Given the description of an element on the screen output the (x, y) to click on. 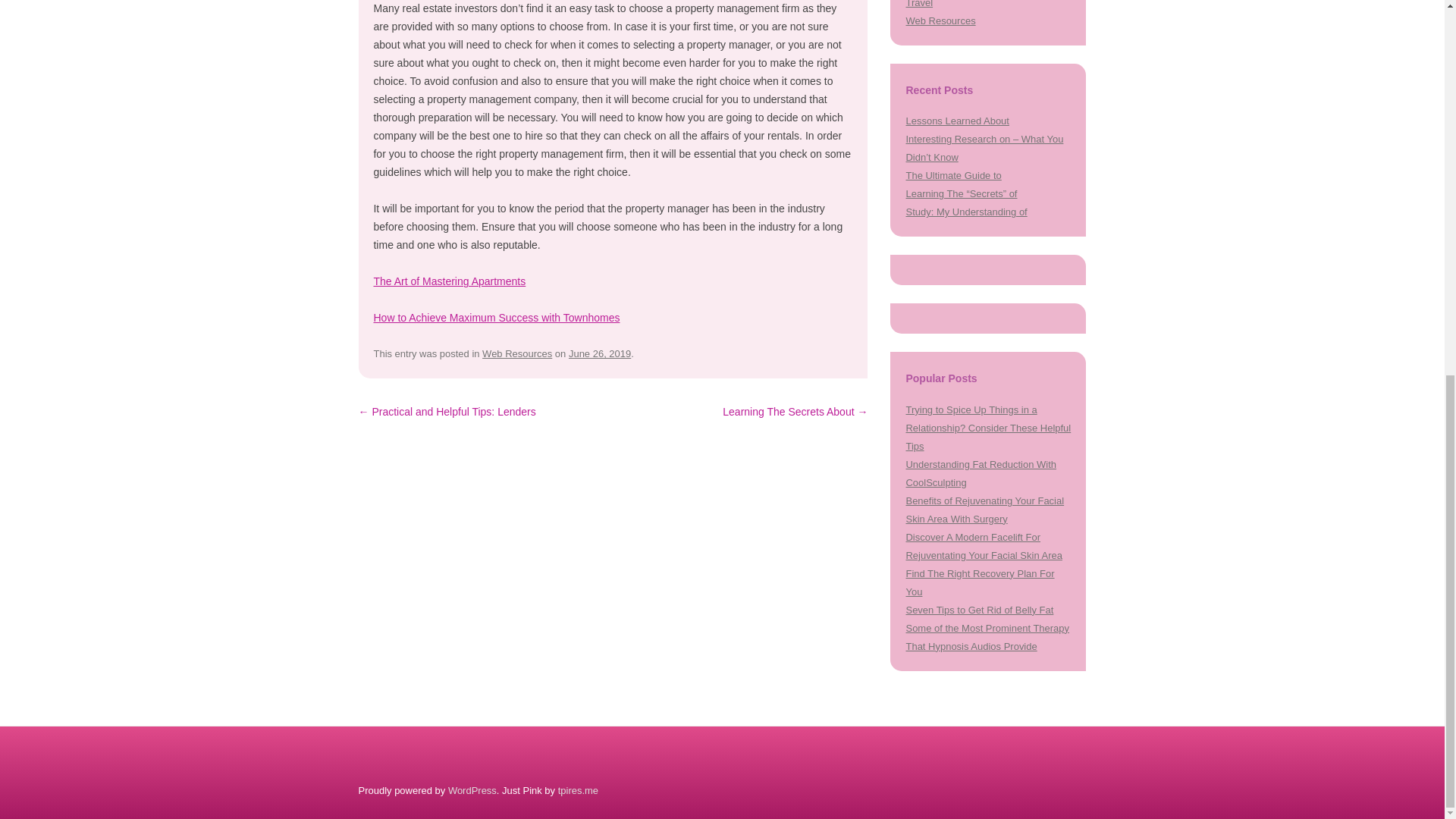
Find The Right Recovery Plan For You (979, 582)
Lessons Learned About (957, 120)
6:33 pm (599, 353)
How to Achieve Maximum Success with Townhomes (496, 317)
The Ultimate Guide to (953, 174)
Seven Tips to Get Rid of Belly Fat (978, 609)
Understanding Fat Reduction With CoolSculpting (980, 473)
Web Resources (940, 20)
The Art of Mastering Apartments (448, 281)
